Given the description of an element on the screen output the (x, y) to click on. 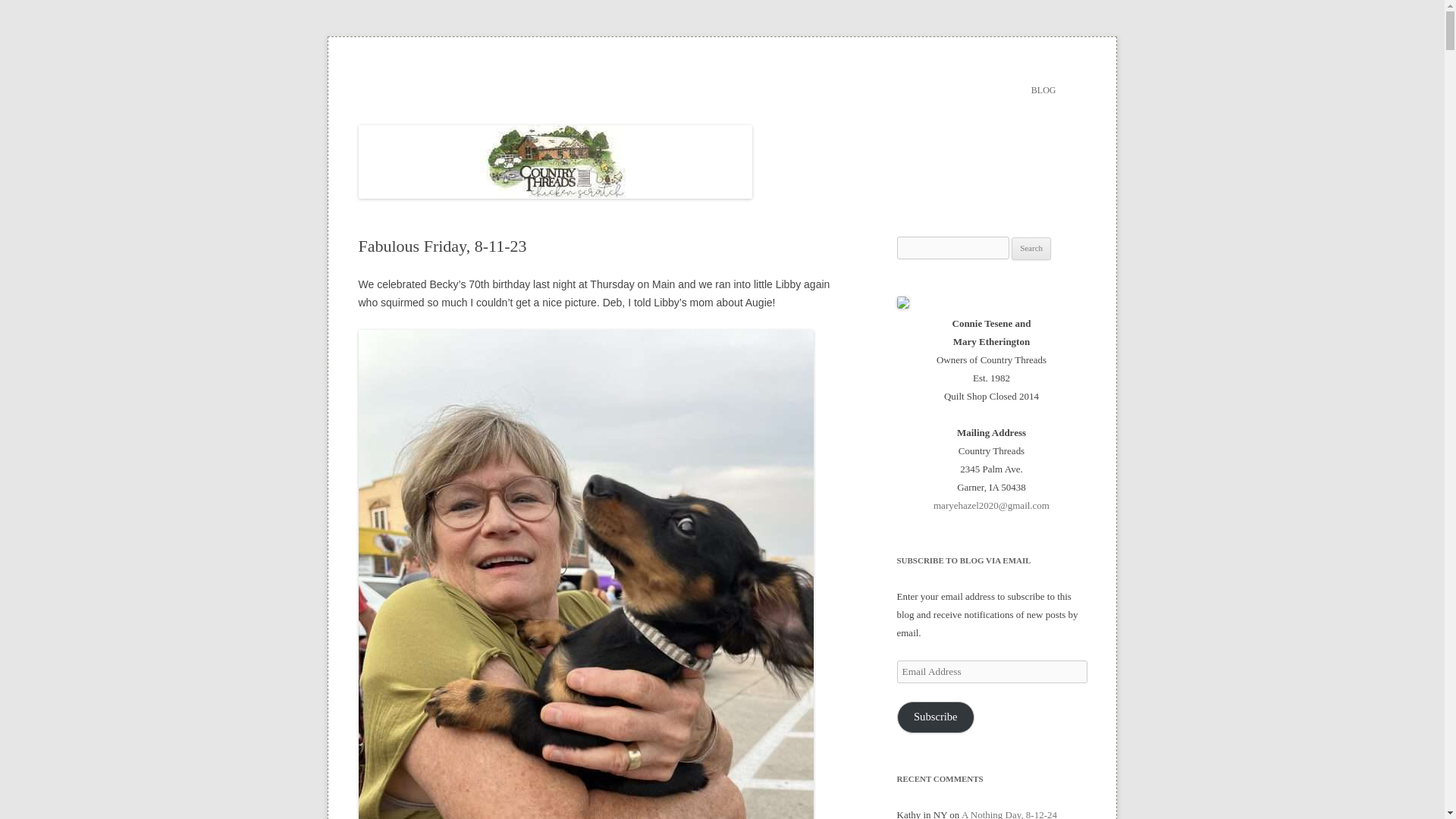
Search (1031, 248)
Country Threads Chicken Scratch (502, 73)
